Given the description of an element on the screen output the (x, y) to click on. 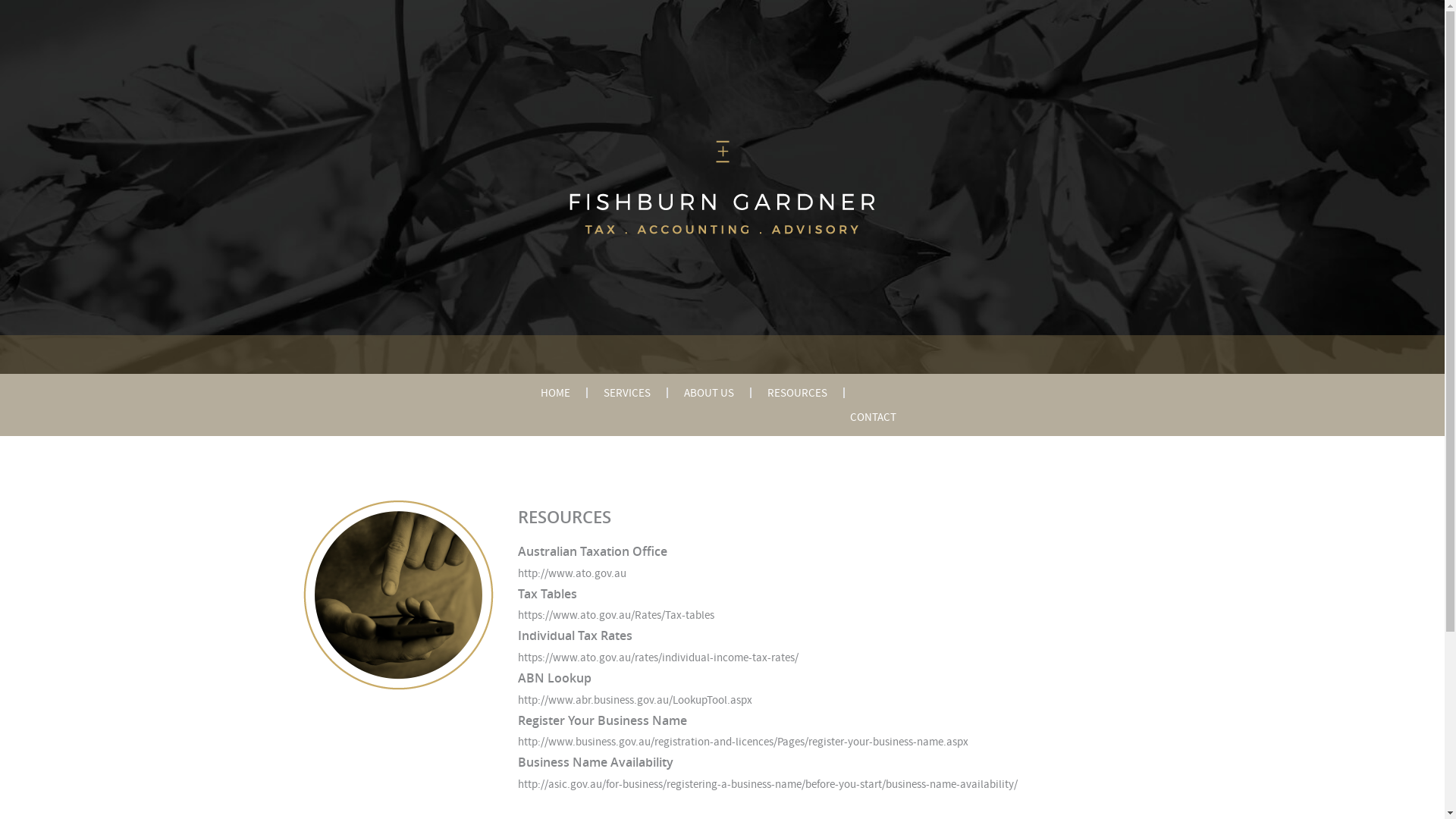
http://www.ato.gov.au Element type: text (571, 572)
https://www.ato.gov.au/rates/individual-income-tax-rates/ Element type: text (657, 657)
CONTACT Element type: text (872, 417)
HOME Element type: text (555, 392)
http://www.abr.business.gov.au/LookupTool.aspx Element type: text (634, 699)
ABOUT US Element type: text (707, 392)
SERVICES Element type: text (626, 392)
RESOURCES Element type: text (796, 392)
https://www.ato.gov.au/Rates/Tax-tables Element type: text (615, 614)
